Given the description of an element on the screen output the (x, y) to click on. 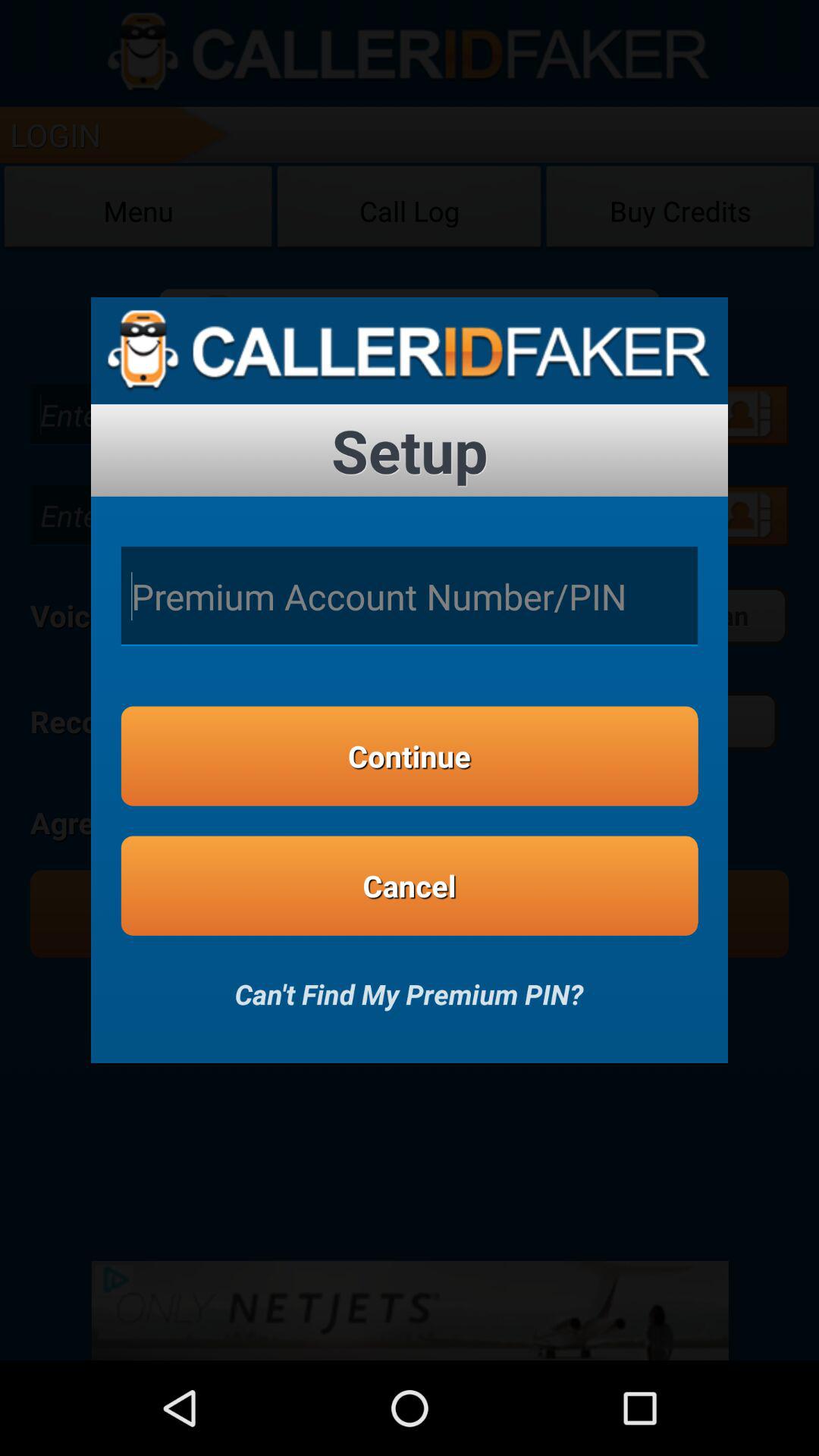
press the item above setup icon (409, 350)
